Given the description of an element on the screen output the (x, y) to click on. 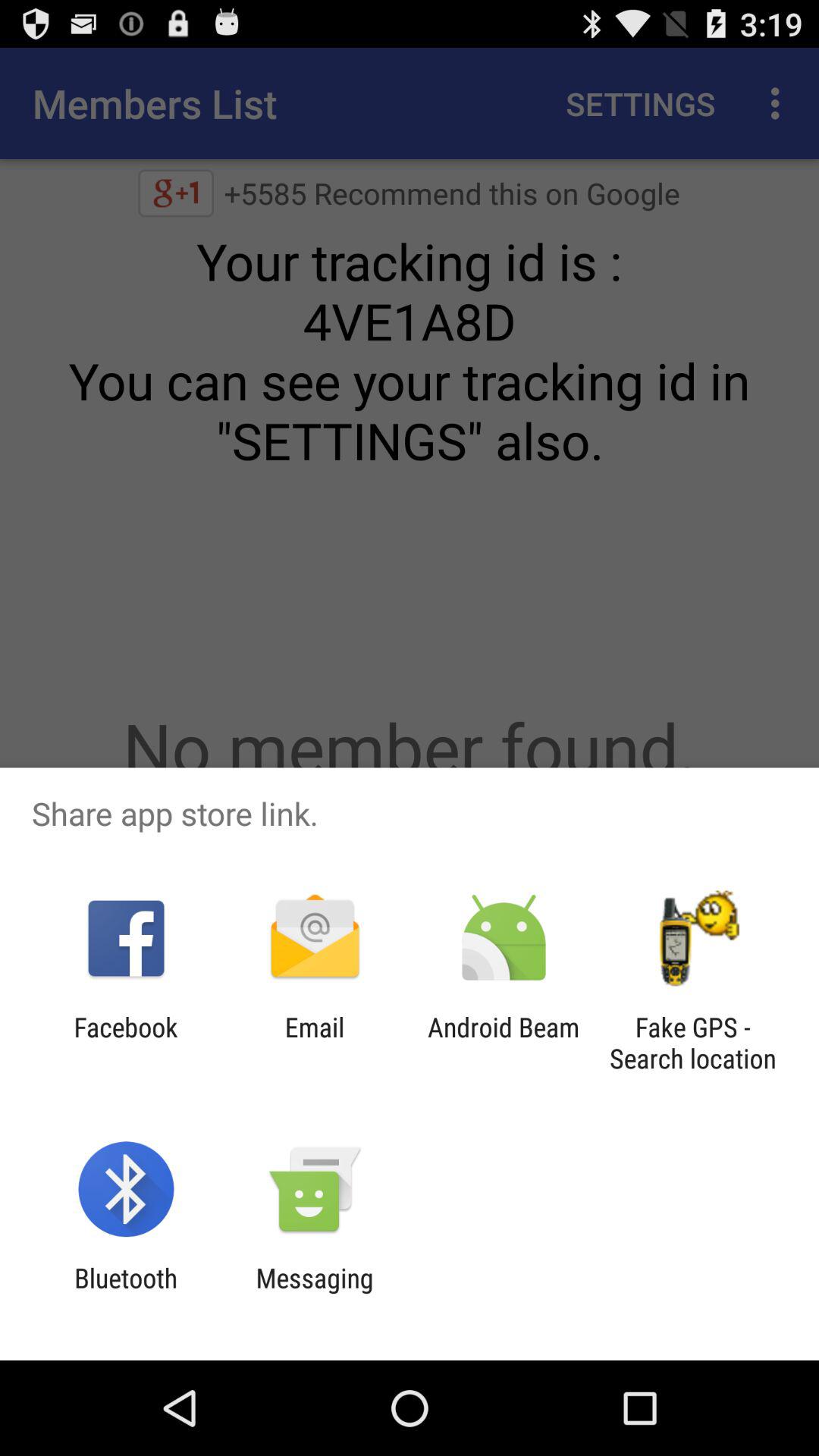
launch app to the left of the fake gps search (503, 1042)
